Given the description of an element on the screen output the (x, y) to click on. 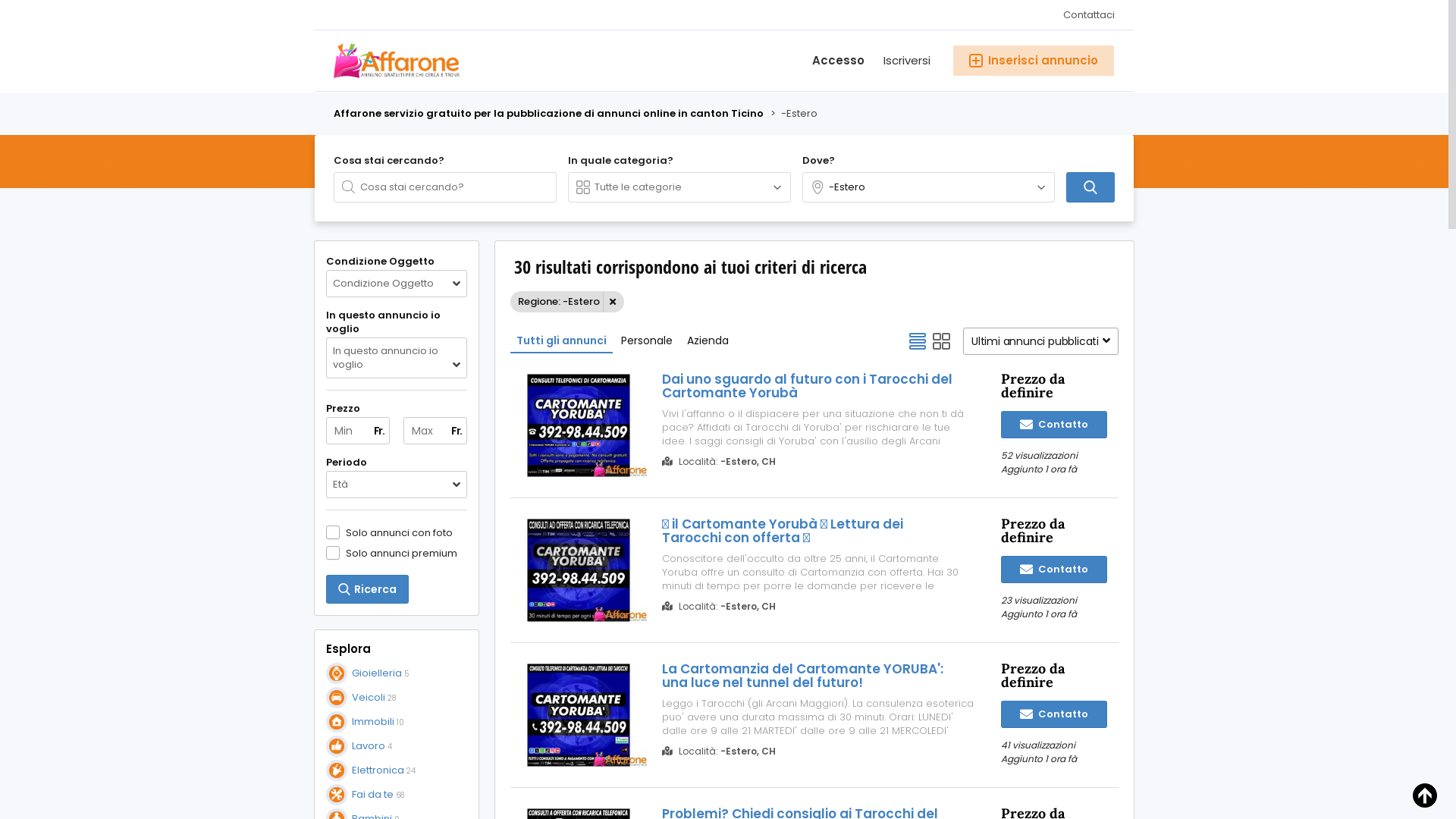
Vista a griglia Element type: hover (941, 340)
Immobili
10 Element type: text (365, 721)
Veicoli
28 Element type: text (360, 697)
Lavoro
4 Element type: text (359, 746)
Accesso Element type: text (828, 60)
Contatto Element type: text (1054, 424)
Tutti gli annunci Element type: text (561, 340)
Ricerca Element type: text (367, 588)
Gioielleria
5 Element type: text (367, 673)
Regione: -Estero Element type: text (567, 301)
Contatto Element type: text (1054, 714)
Personale Element type: text (646, 340)
Iscriversi Element type: text (897, 60)
Fai da te
68 Element type: text (365, 794)
Contattaci Element type: text (1084, 14)
Contatto Element type: text (1054, 569)
Visualizzazione elenco Element type: hover (917, 340)
Elettronica
24 Element type: text (370, 770)
Azienda Element type: text (707, 340)
Inserisci annuncio Element type: text (1033, 60)
